Given the description of an element on the screen output the (x, y) to click on. 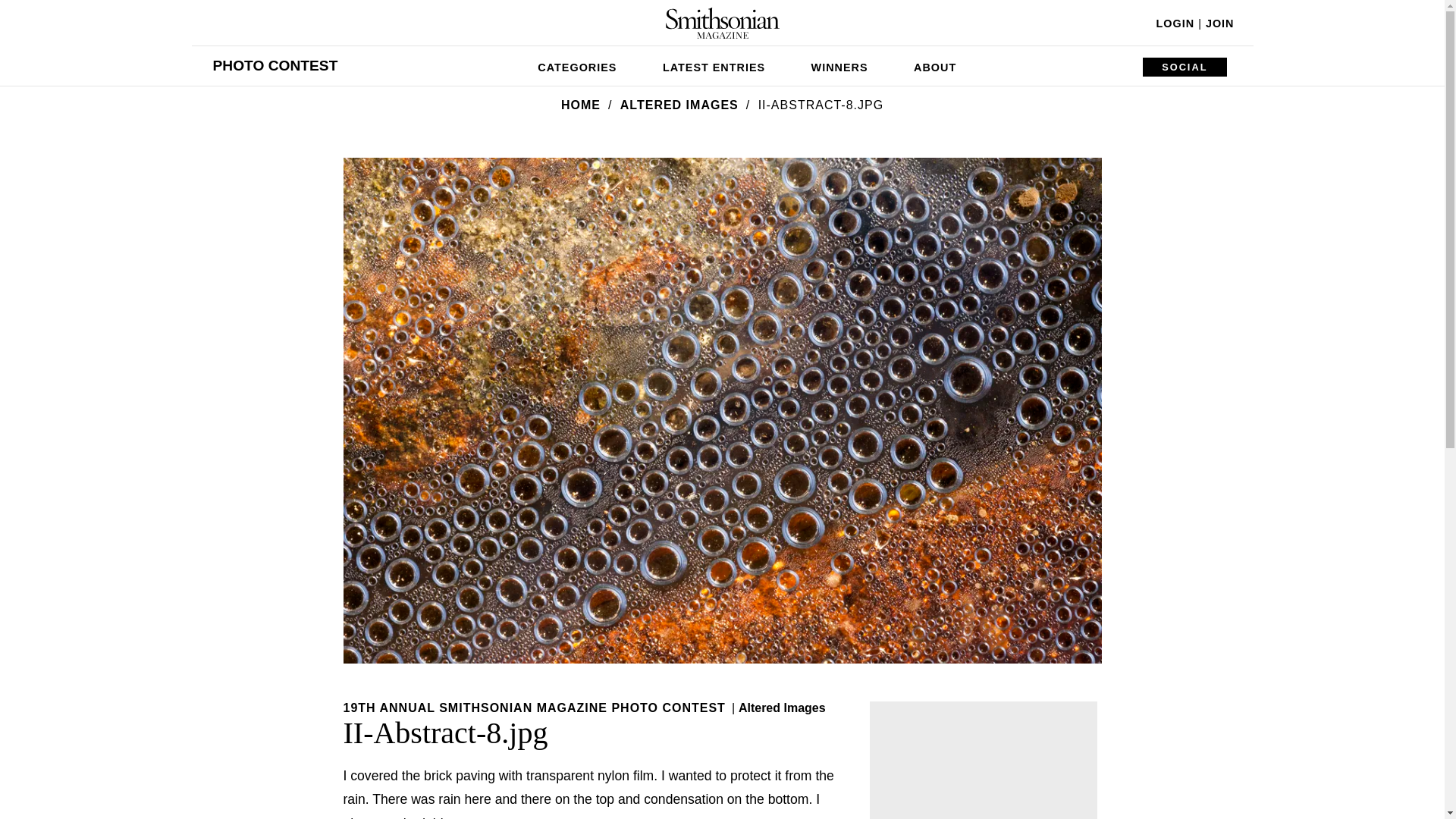
LATEST ENTRIES (713, 65)
ABOUT (934, 65)
PHOTO CONTEST (274, 65)
WINNERS (839, 65)
SOCIAL (1183, 66)
CATEGORIES (577, 65)
JOIN (1219, 23)
